Given the description of an element on the screen output the (x, y) to click on. 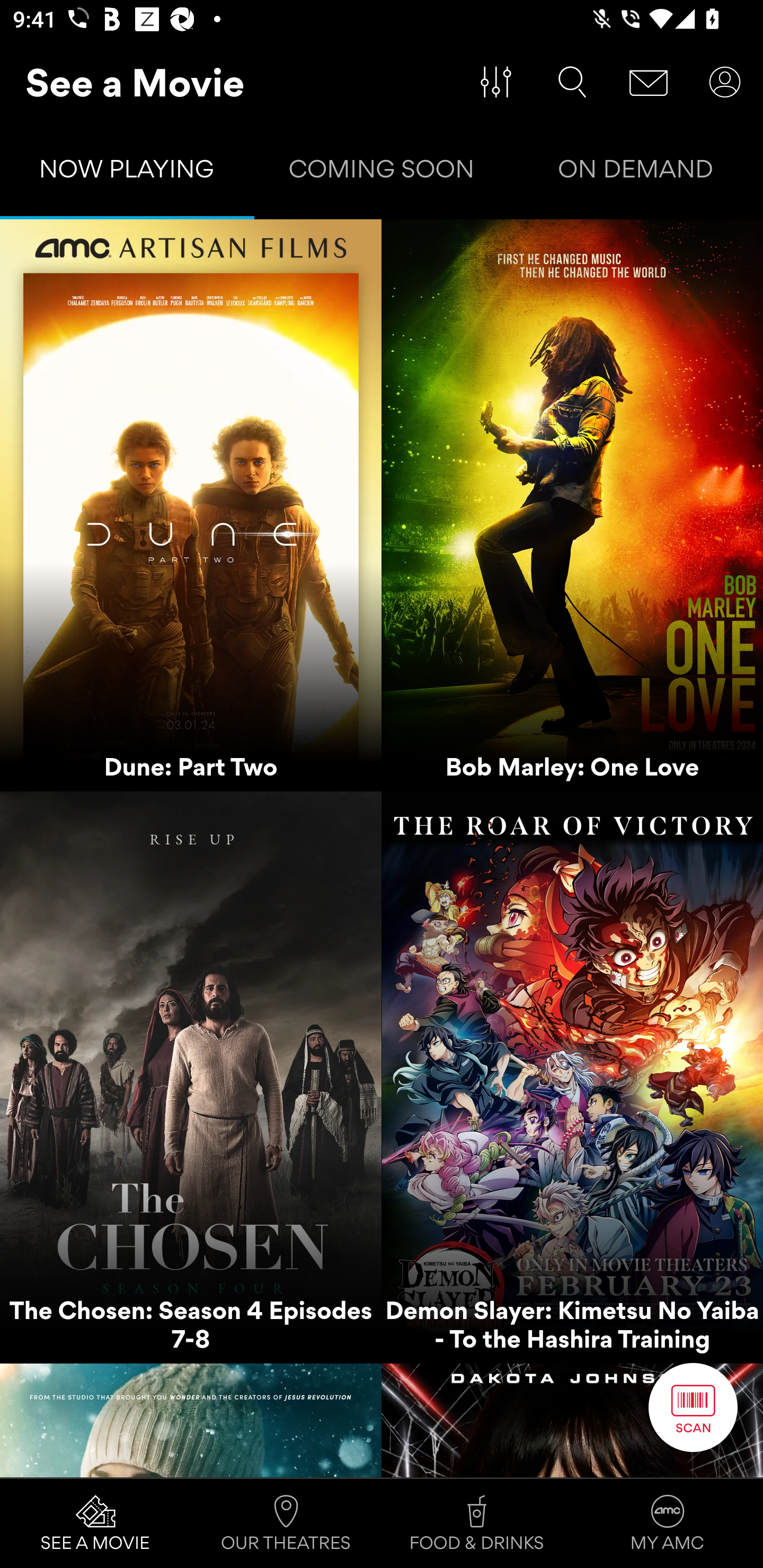
Filter Movies (495, 82)
Search (572, 82)
Message Center (648, 82)
User Account (724, 82)
NOW PLAYING
Tab 1 of 3 (127, 173)
COMING SOON
Tab 2 of 3 (381, 173)
ON DEMAND
Tab 3 of 3 (635, 173)
Dune: Part Two (190, 505)
Bob Marley: One Love (572, 505)
The Chosen: Season 4 Episodes 7-8 (190, 1077)
Scan Button (692, 1406)
SEE A MOVIE
Tab 1 of 4 (95, 1523)
OUR THEATRES
Tab 2 of 4 (285, 1523)
FOOD & DRINKS
Tab 3 of 4 (476, 1523)
MY AMC
Tab 4 of 4 (667, 1523)
